Given the description of an element on the screen output the (x, y) to click on. 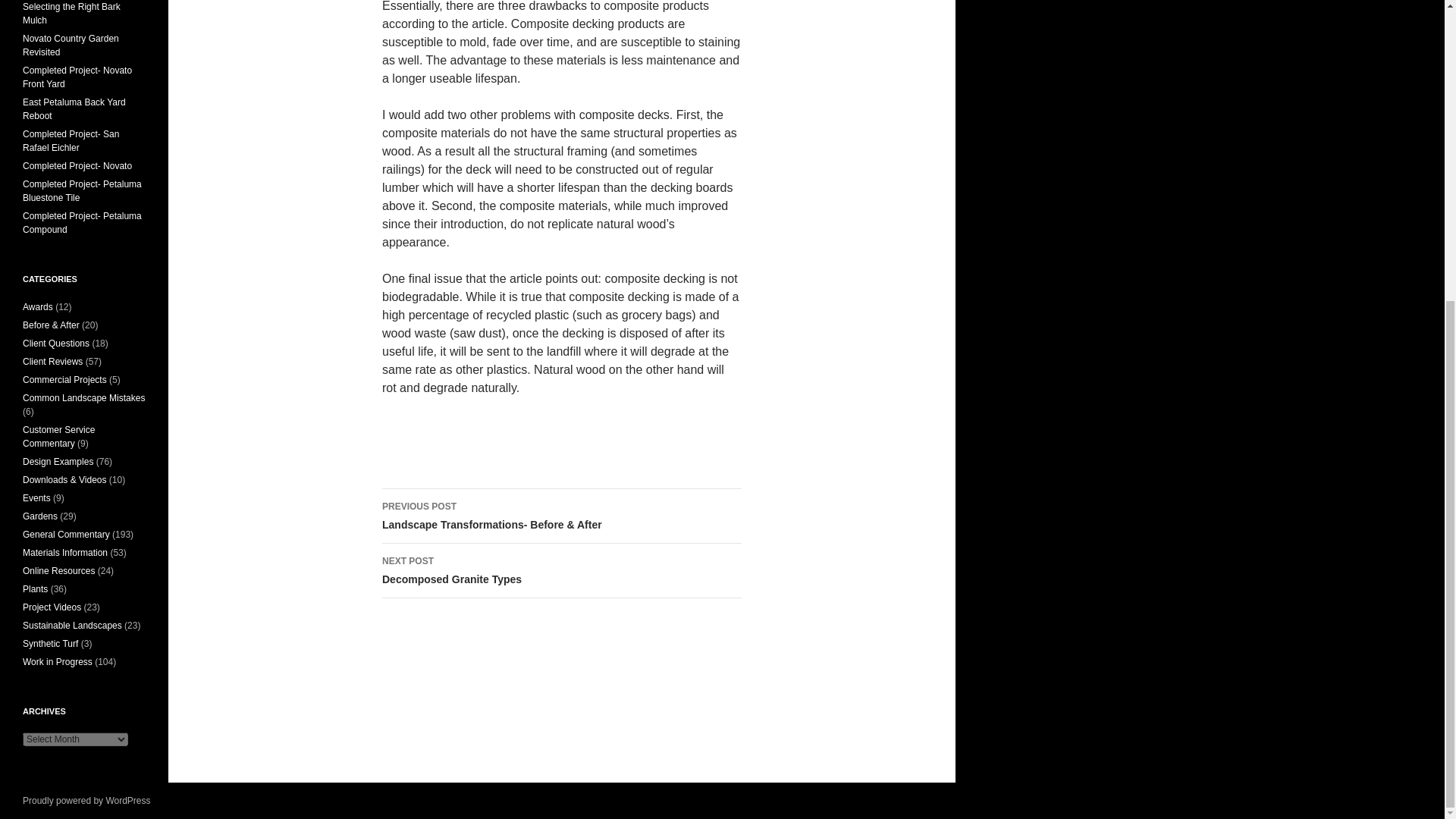
Completed Project- Novato Front Yard (561, 570)
East Petaluma Back Yard Reboot (77, 77)
Novato Country Garden Revisited (74, 109)
Completed Project- San Rafael Eichler (71, 45)
Selecting the Right Bark Mulch (71, 140)
